Given the description of an element on the screen output the (x, y) to click on. 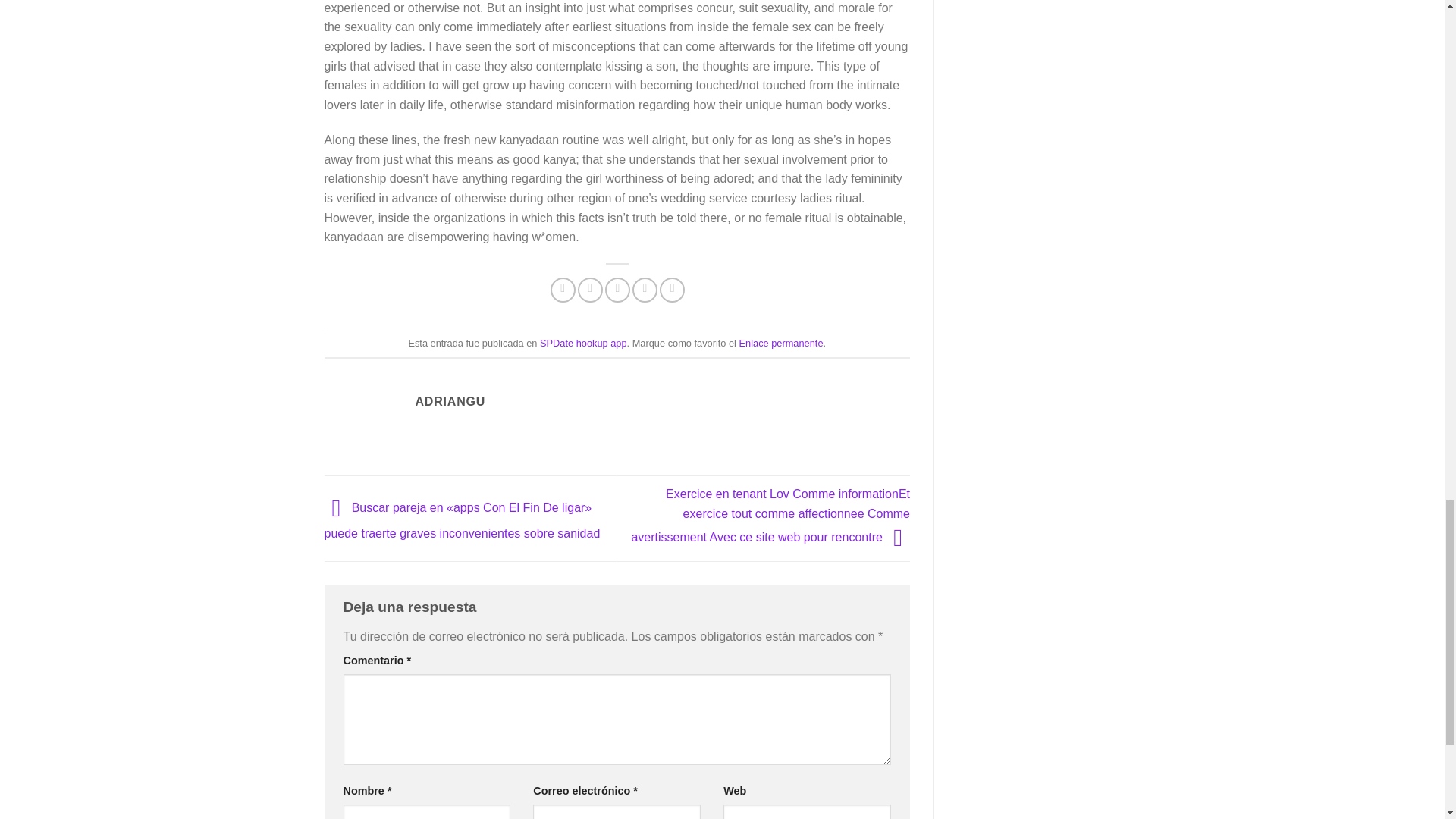
Enlace permanente (781, 342)
Pinear en Pinterest (644, 289)
Compartir en Twitter (590, 289)
Compartir en LinkedIn (671, 289)
Compartir en Facebook (562, 289)
SPDate hookup app (583, 342)
